Given the description of an element on the screen output the (x, y) to click on. 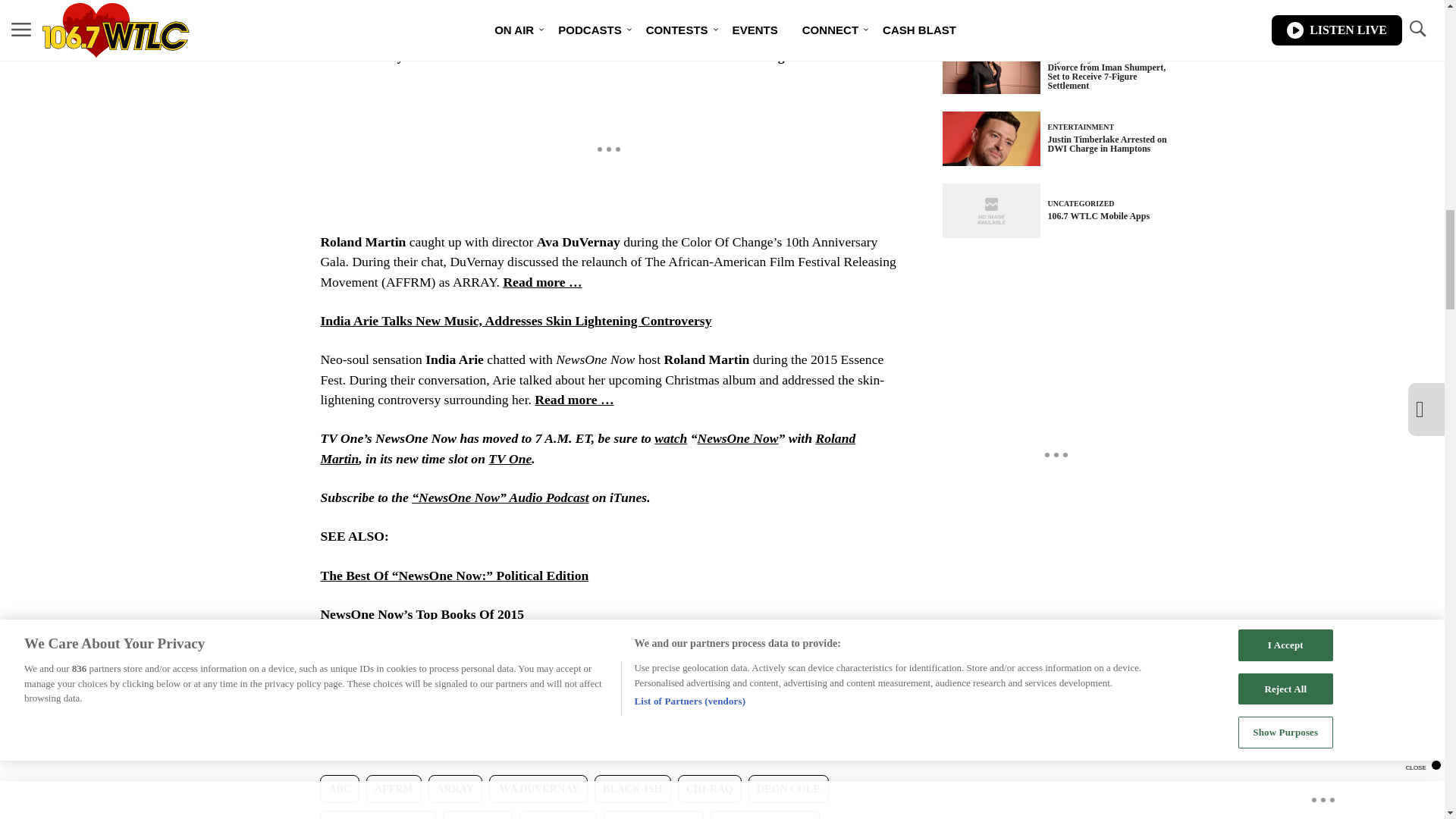
NewsOne Now with Roland Martin (737, 437)
watch (670, 437)
NewsOne Now with Roland Martin (670, 437)
NewsOne Now with Roland Martin on TV One (509, 458)
NewsOne Now Audio Podcast (500, 497)
NewsOne Now (737, 437)
